Given the description of an element on the screen output the (x, y) to click on. 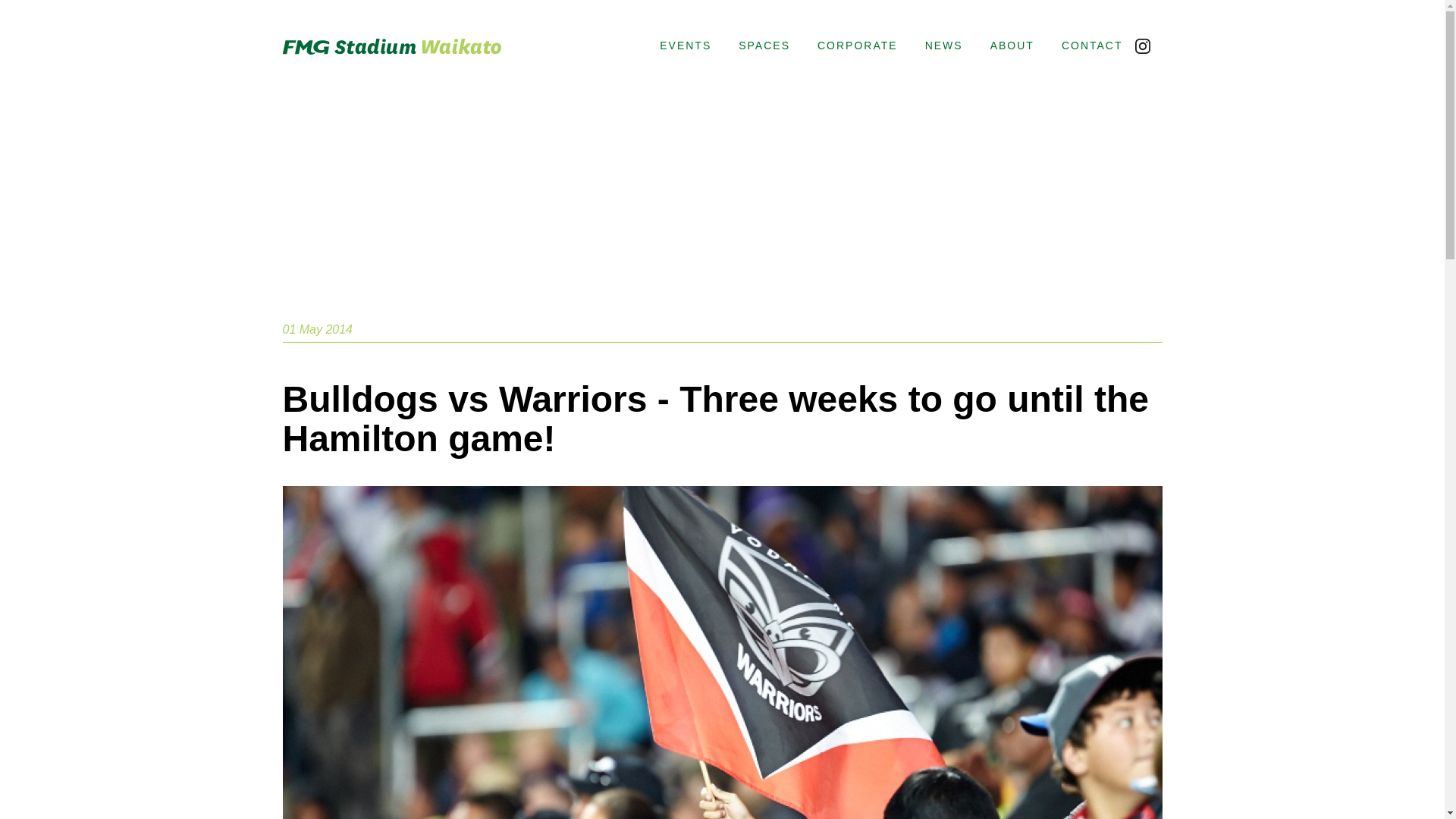
CORPORATE (857, 45)
CONTACT (1085, 45)
SPACES (764, 45)
EVENTS (685, 45)
NEWS (943, 45)
ABOUT (1012, 45)
